Given the description of an element on the screen output the (x, y) to click on. 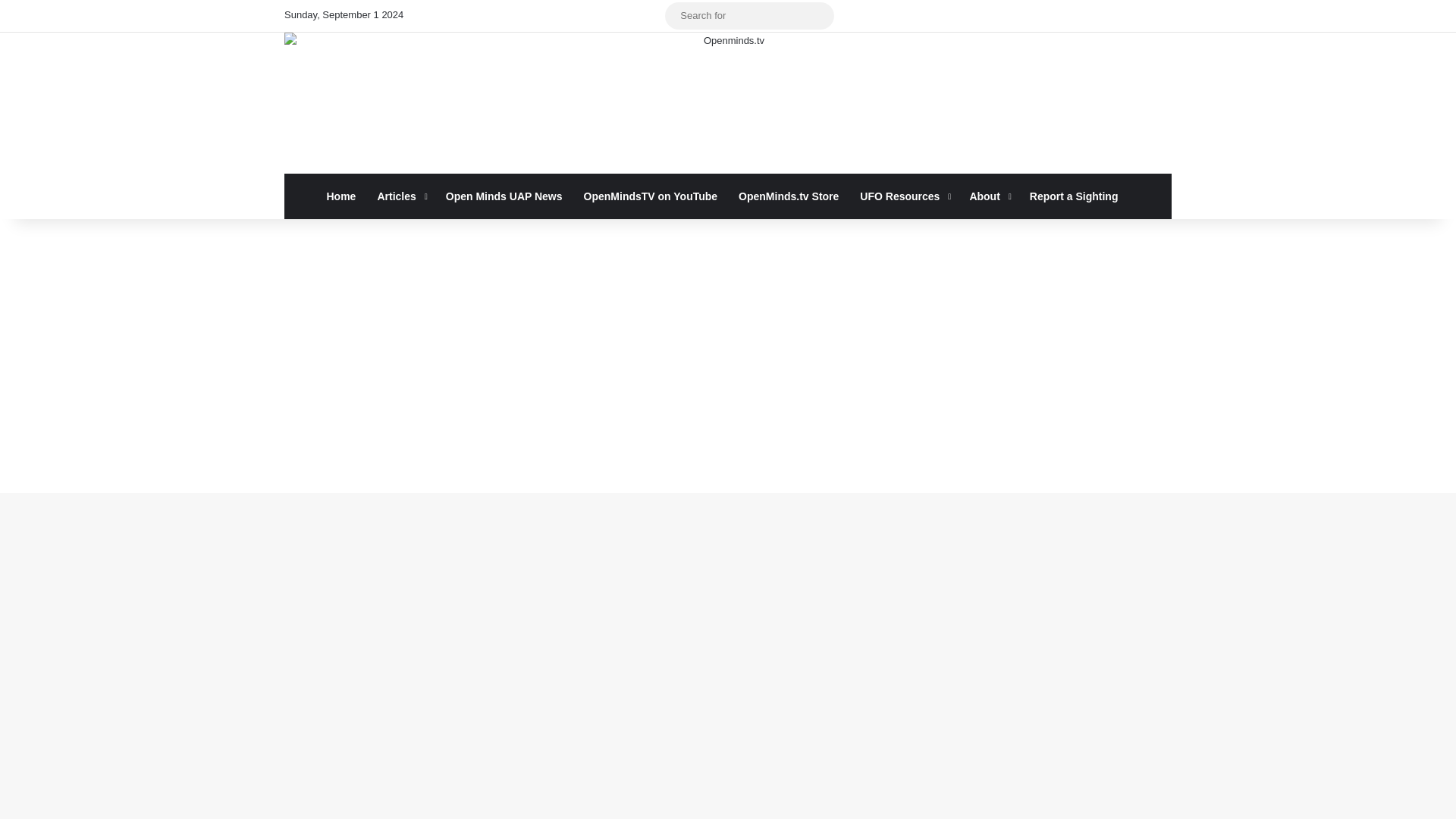
UFO Resources (903, 196)
OpenMindsTV on YouTube (651, 196)
Openminds.tv (727, 102)
Search for (749, 15)
Search for (818, 15)
Home (340, 196)
About (987, 196)
Articles (399, 196)
OpenMinds.tv Store (788, 196)
Open Minds UAP News (504, 196)
